Given the description of an element on the screen output the (x, y) to click on. 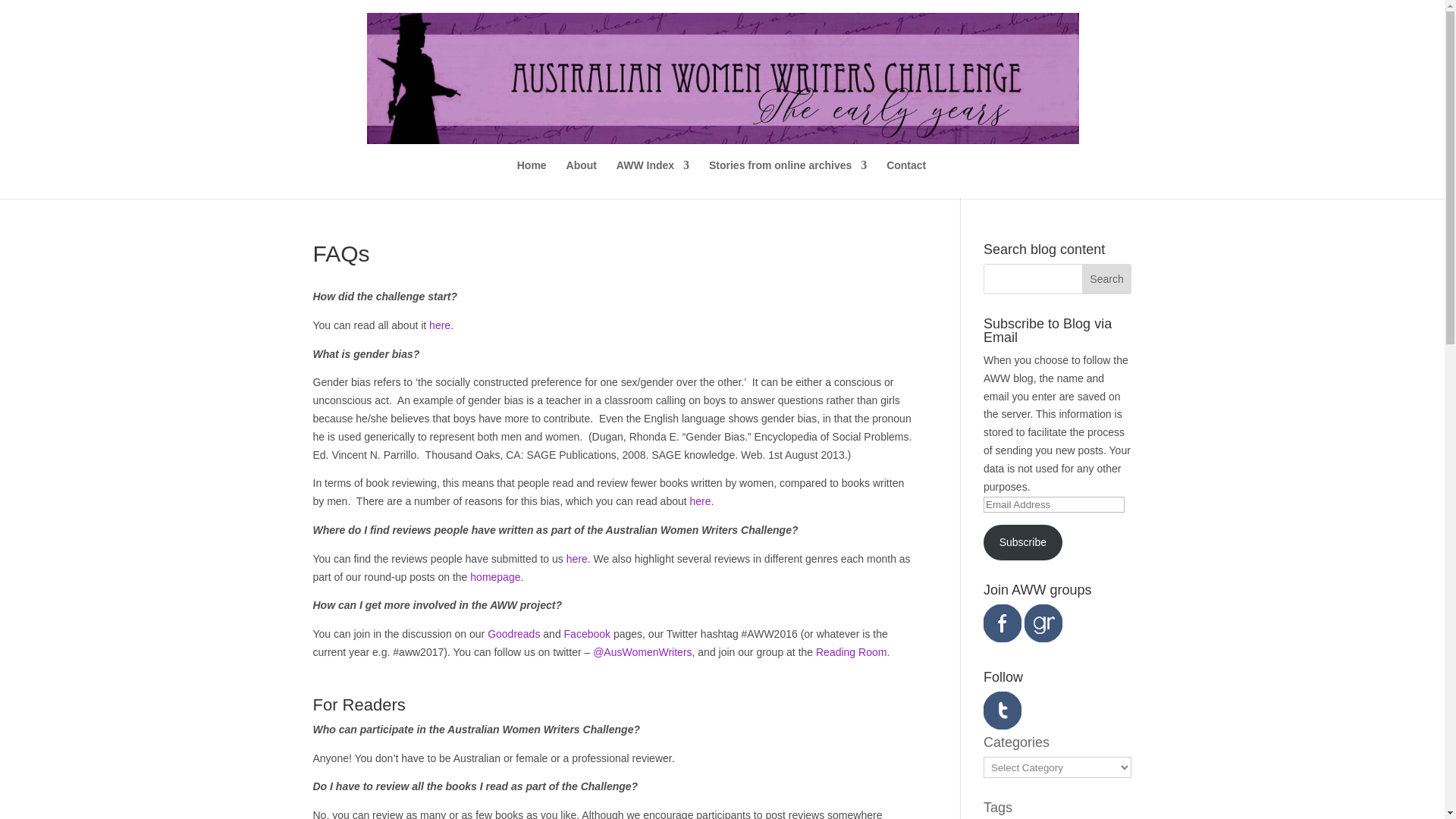
Contact (906, 179)
AWW Index (651, 179)
Search (1106, 278)
Stories from online archives (787, 179)
